Given the description of an element on the screen output the (x, y) to click on. 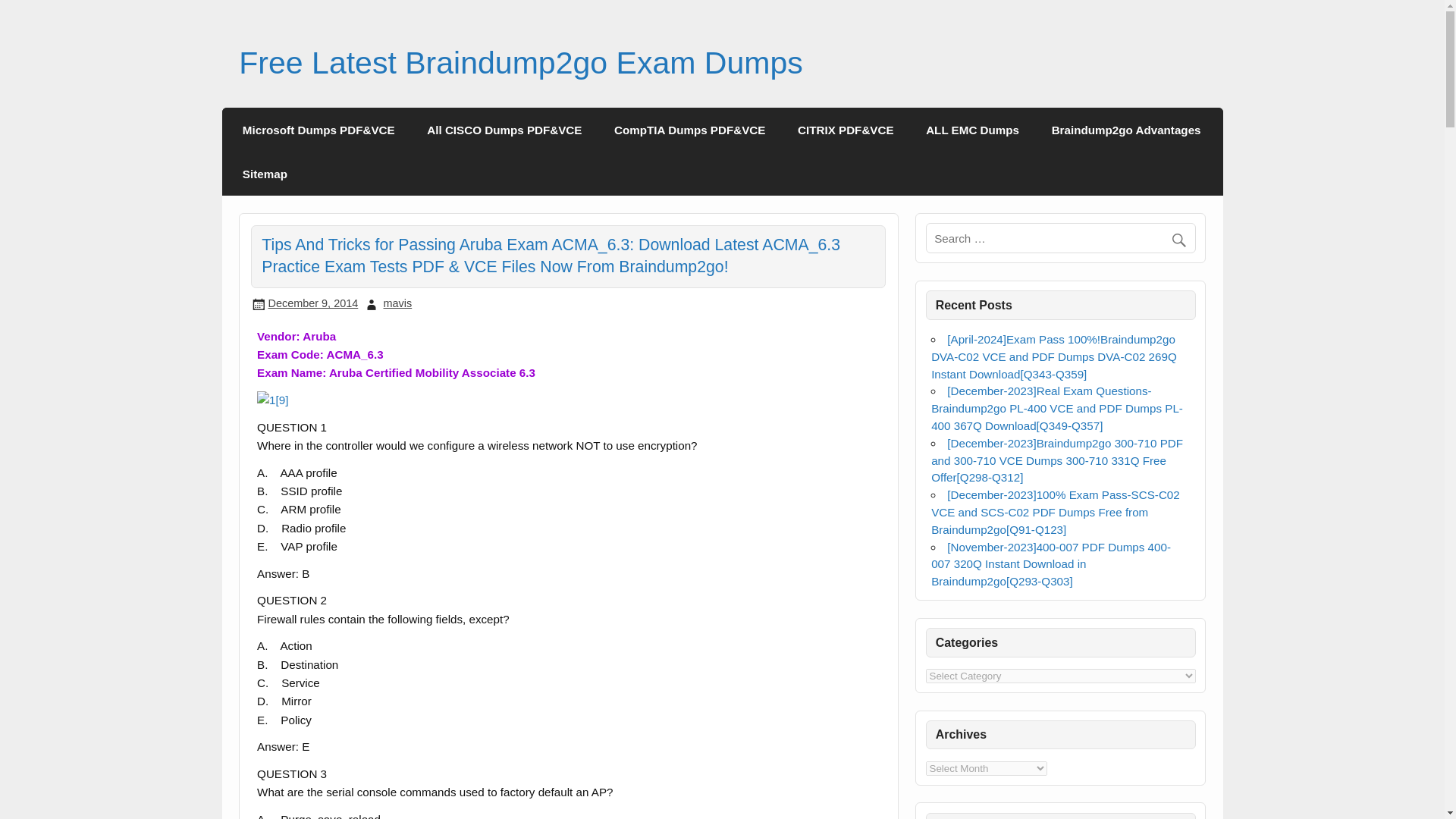
Braindump2go Advantages (1125, 129)
mavis (398, 303)
6:56 am (312, 303)
Free Latest Braindump2go Exam Dumps (520, 62)
Sitemap (265, 173)
ALL EMC Dumps (972, 129)
View all posts by mavis (398, 303)
December 9, 2014 (312, 303)
